Given the description of an element on the screen output the (x, y) to click on. 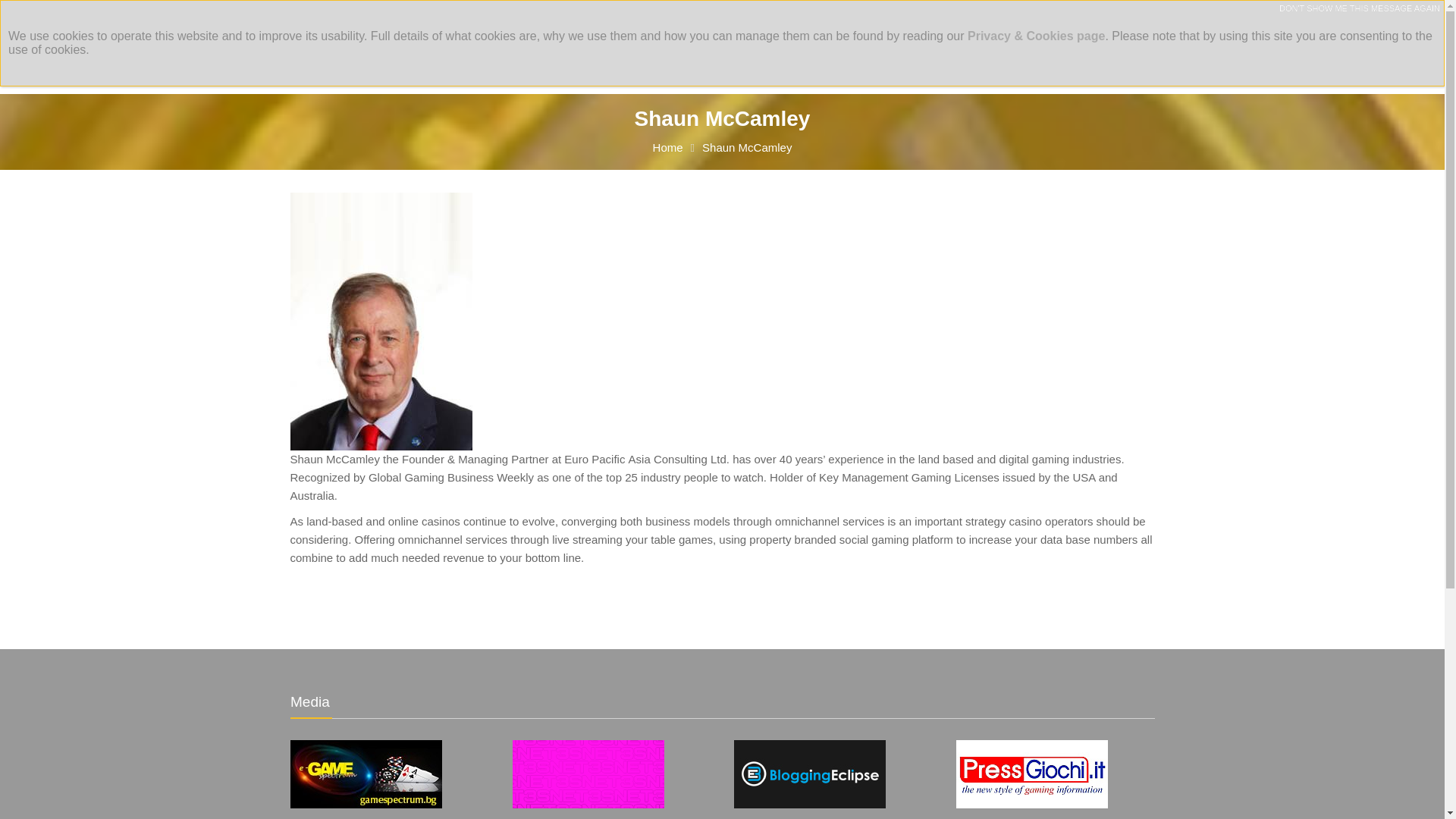
Home (667, 147)
English (321, 15)
Useful info (775, 59)
Contacts (1017, 58)
EEGS 2024 (601, 59)
Sponsorship (930, 58)
News (852, 58)
Events (690, 59)
About us (506, 59)
